Given the description of an element on the screen output the (x, y) to click on. 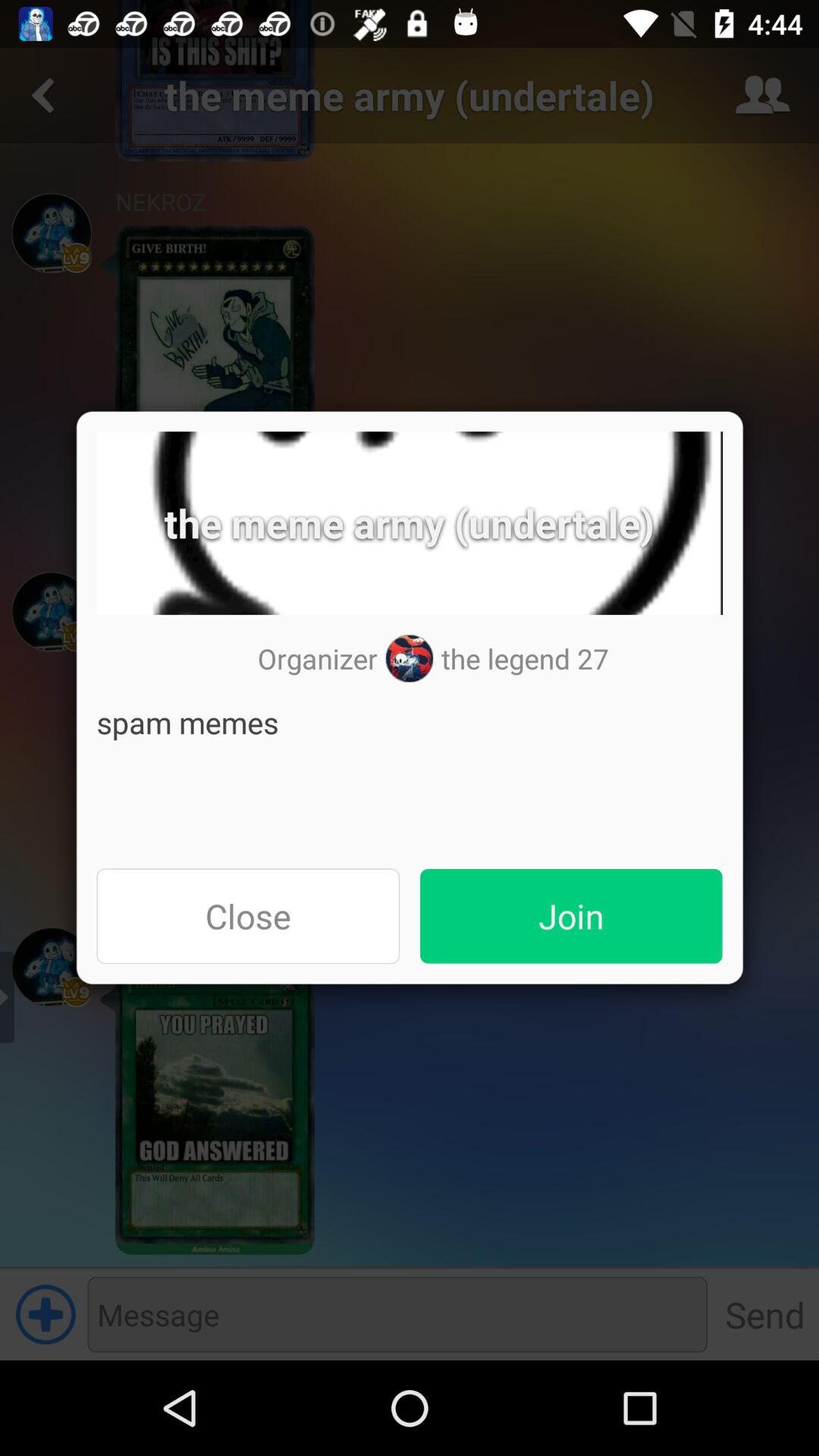
choose item to the left of join (247, 916)
